Given the description of an element on the screen output the (x, y) to click on. 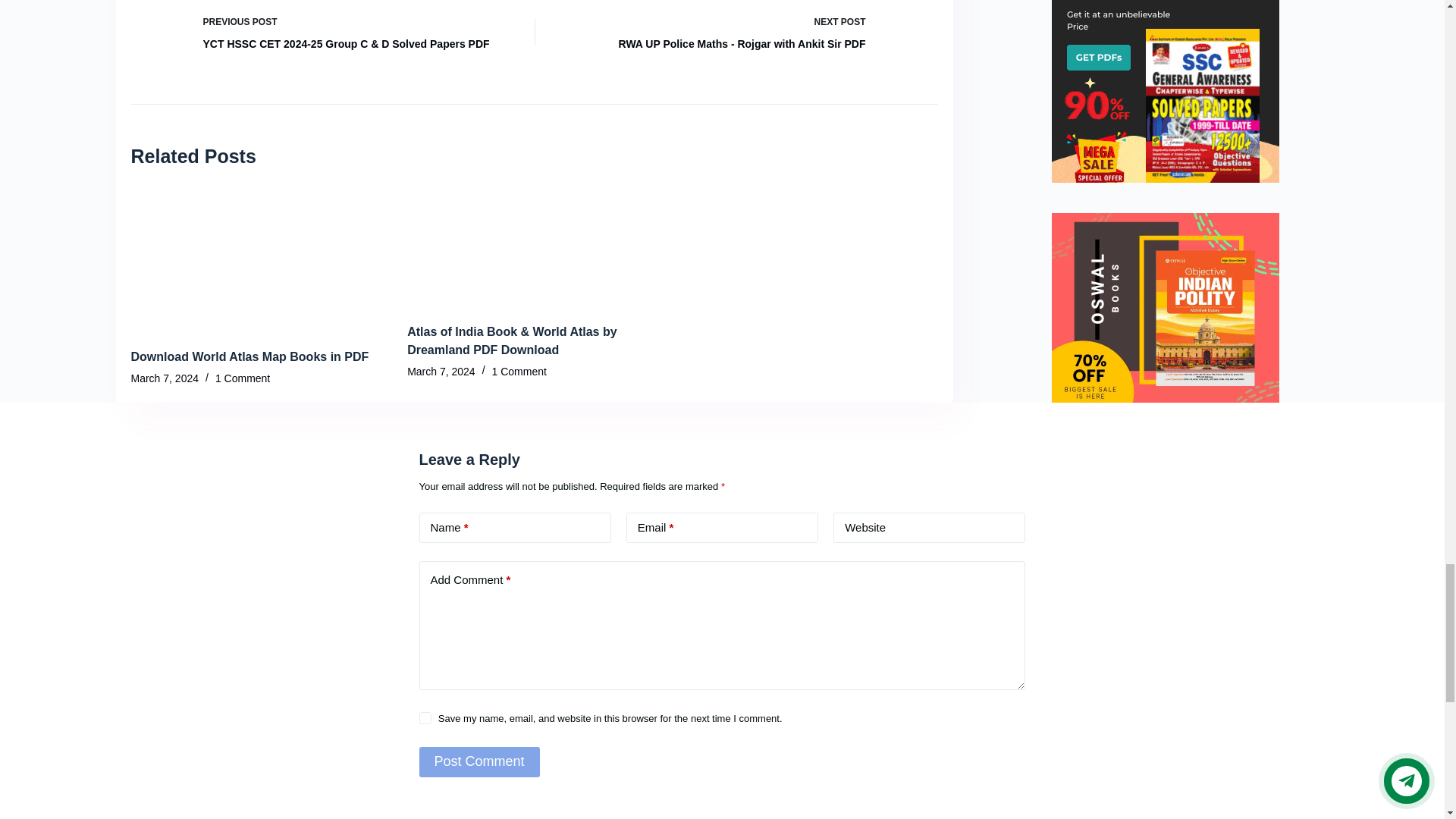
yes (424, 717)
